Given the description of an element on the screen output the (x, y) to click on. 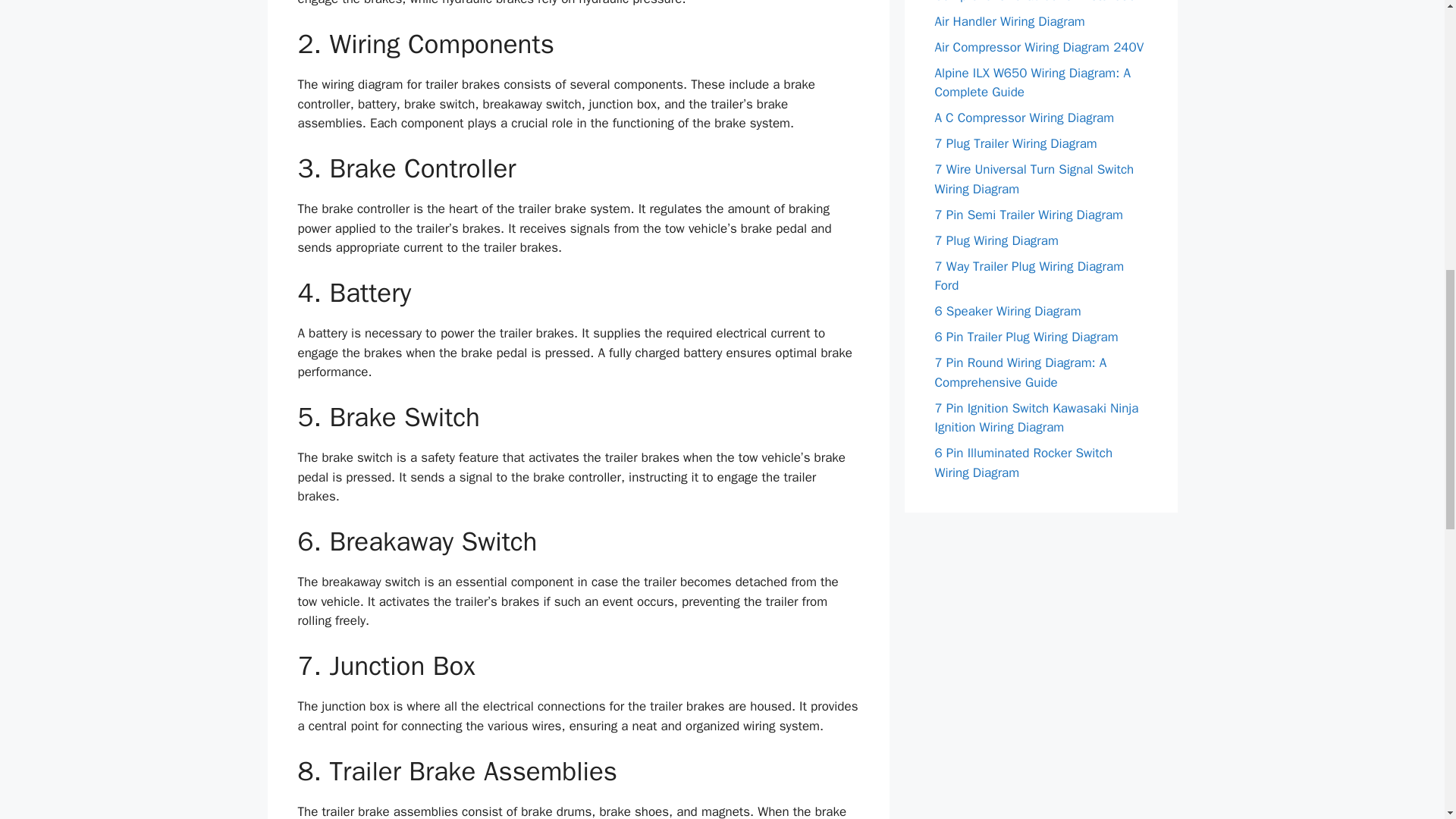
Air Handler Wiring Diagram (1009, 21)
Air Compressor Wiring Diagram 240V (1038, 47)
